Given the description of an element on the screen output the (x, y) to click on. 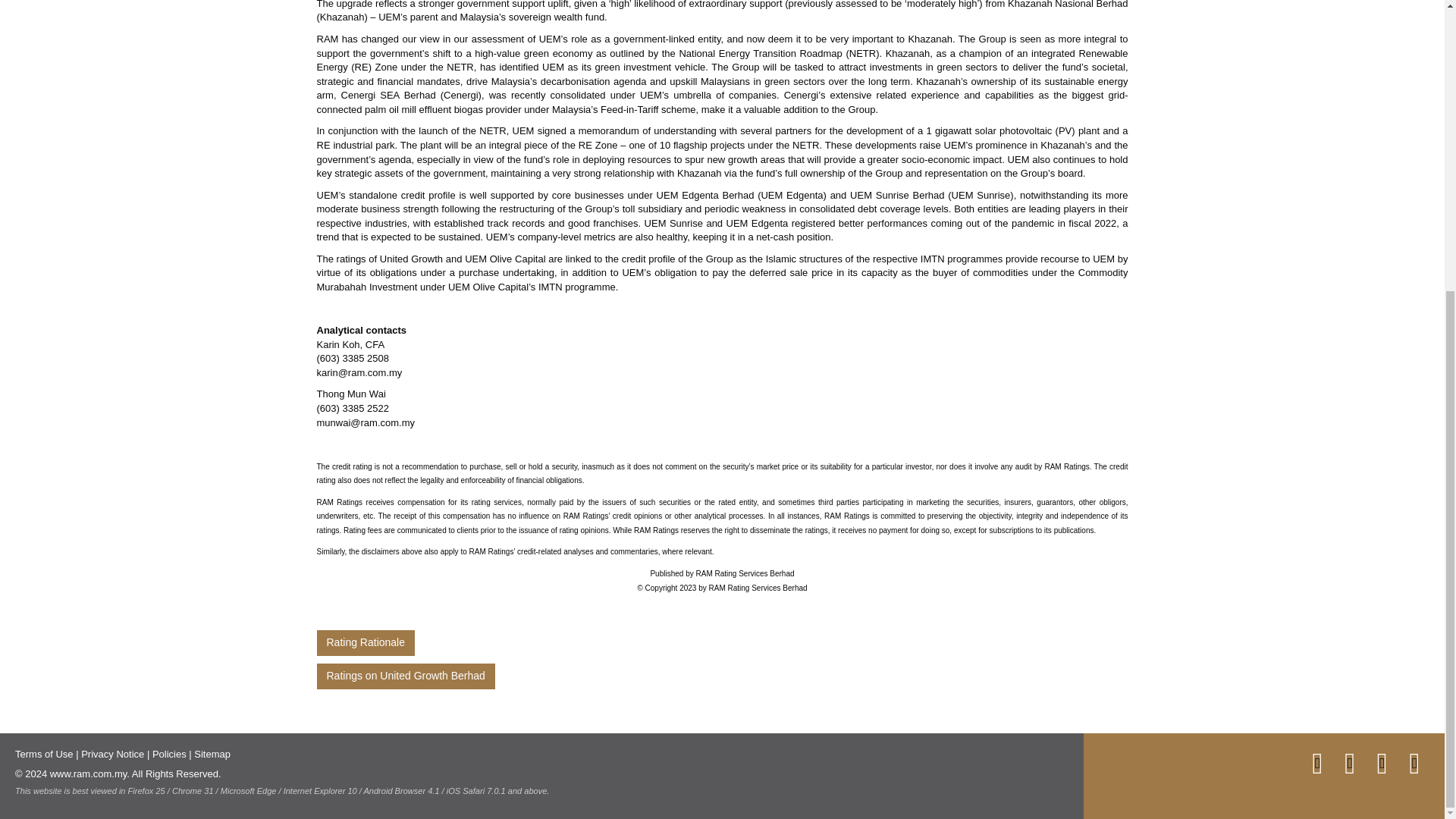
View Rating Rationale (365, 642)
View Ratings (406, 676)
